Given the description of an element on the screen output the (x, y) to click on. 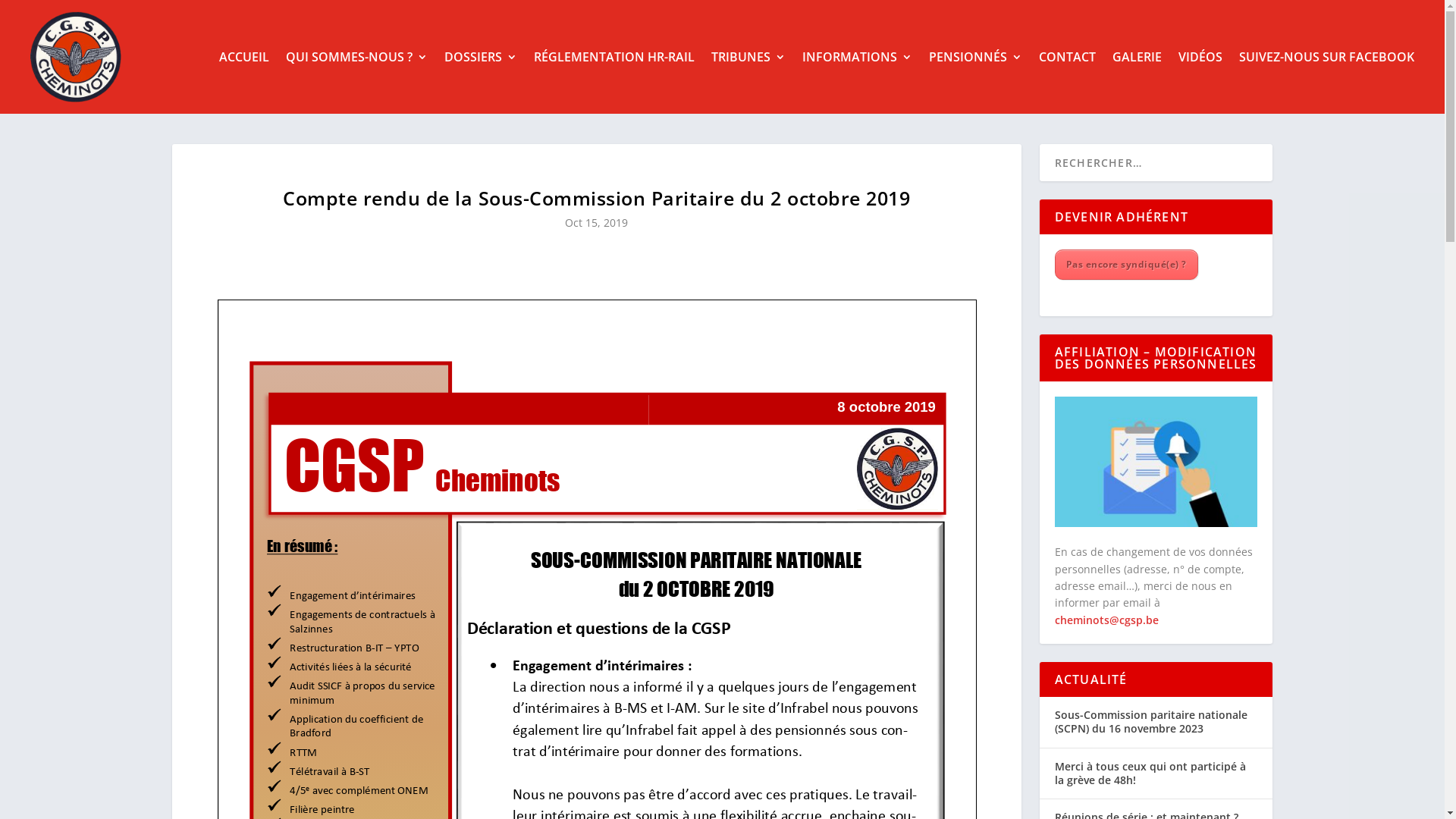
GALERIE Element type: text (1136, 56)
TRIBUNES Element type: text (748, 56)
CONTACT Element type: text (1066, 56)
ACCUEIL Element type: text (244, 56)
SUIVEZ-NOUS SUR FACEBOOK Element type: text (1326, 56)
QUI SOMMES-NOUS ? Element type: text (356, 56)
cheminots@cgsp.be Element type: text (1106, 619)
Rechercher Element type: text (57, 17)
DOSSIERS Element type: text (480, 56)
INFORMATIONS Element type: text (857, 56)
